Given the description of an element on the screen output the (x, y) to click on. 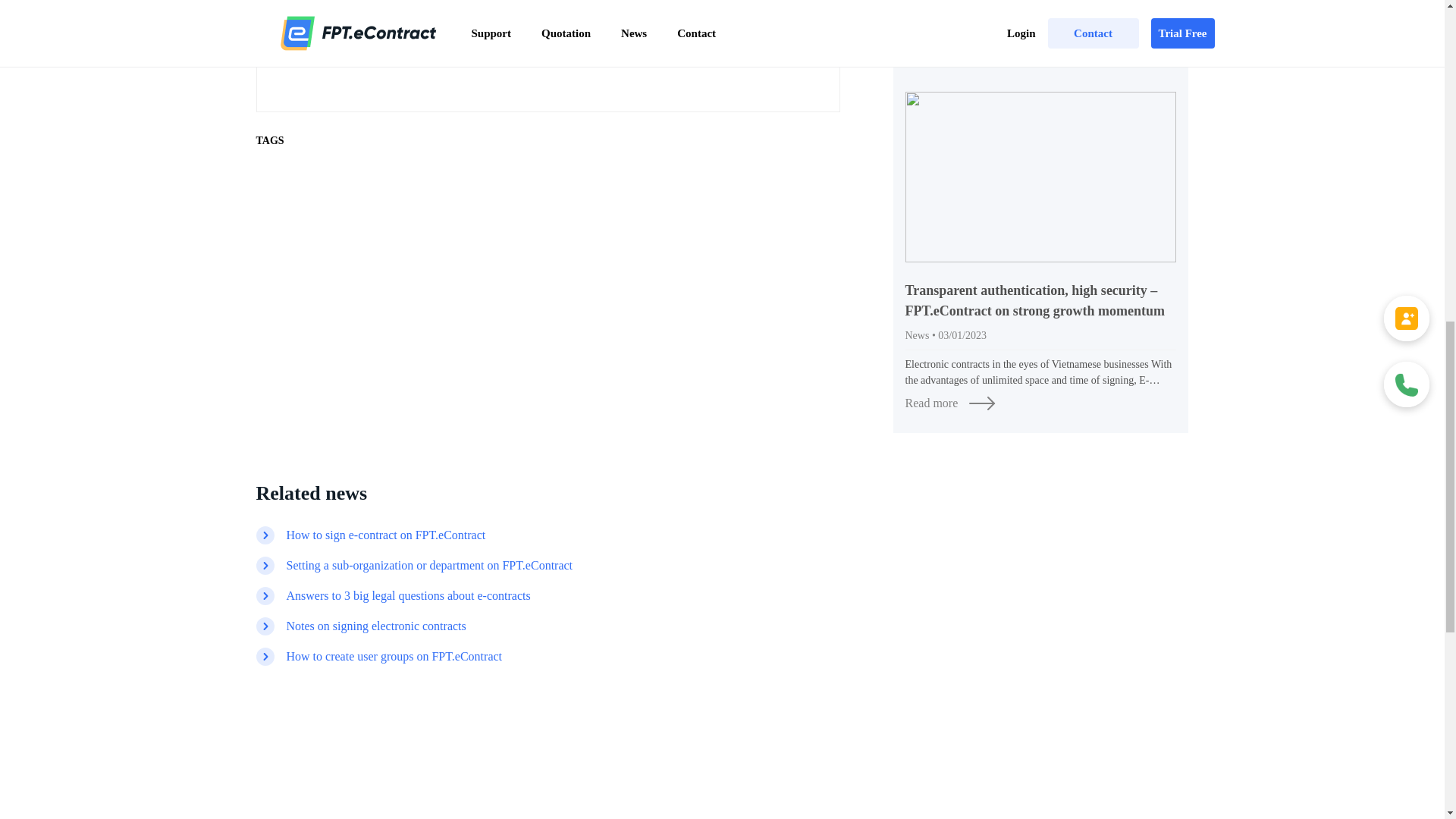
Notes on signing electronic contracts (375, 626)
Answers to 3 big legal questions about e-contracts (408, 596)
How to sign e-contract on FPT.eContract (386, 535)
Read more (1040, 52)
Read more (1040, 402)
Setting a sub-organization or department on FPT.eContract (429, 565)
How to create user groups on FPT.eContract (394, 656)
